Given the description of an element on the screen output the (x, y) to click on. 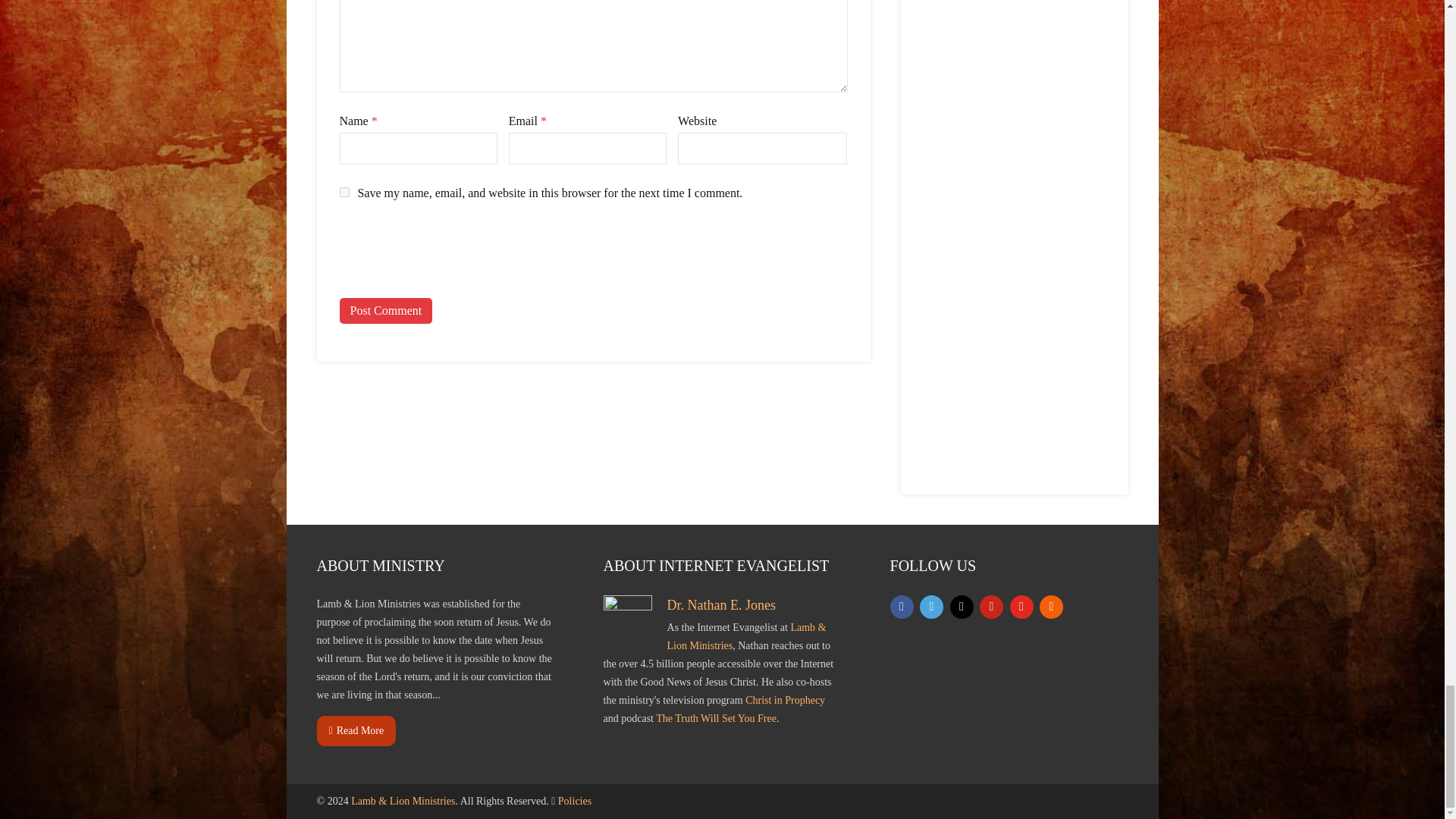
Post Comment (385, 310)
yes (344, 192)
